Given the description of an element on the screen output the (x, y) to click on. 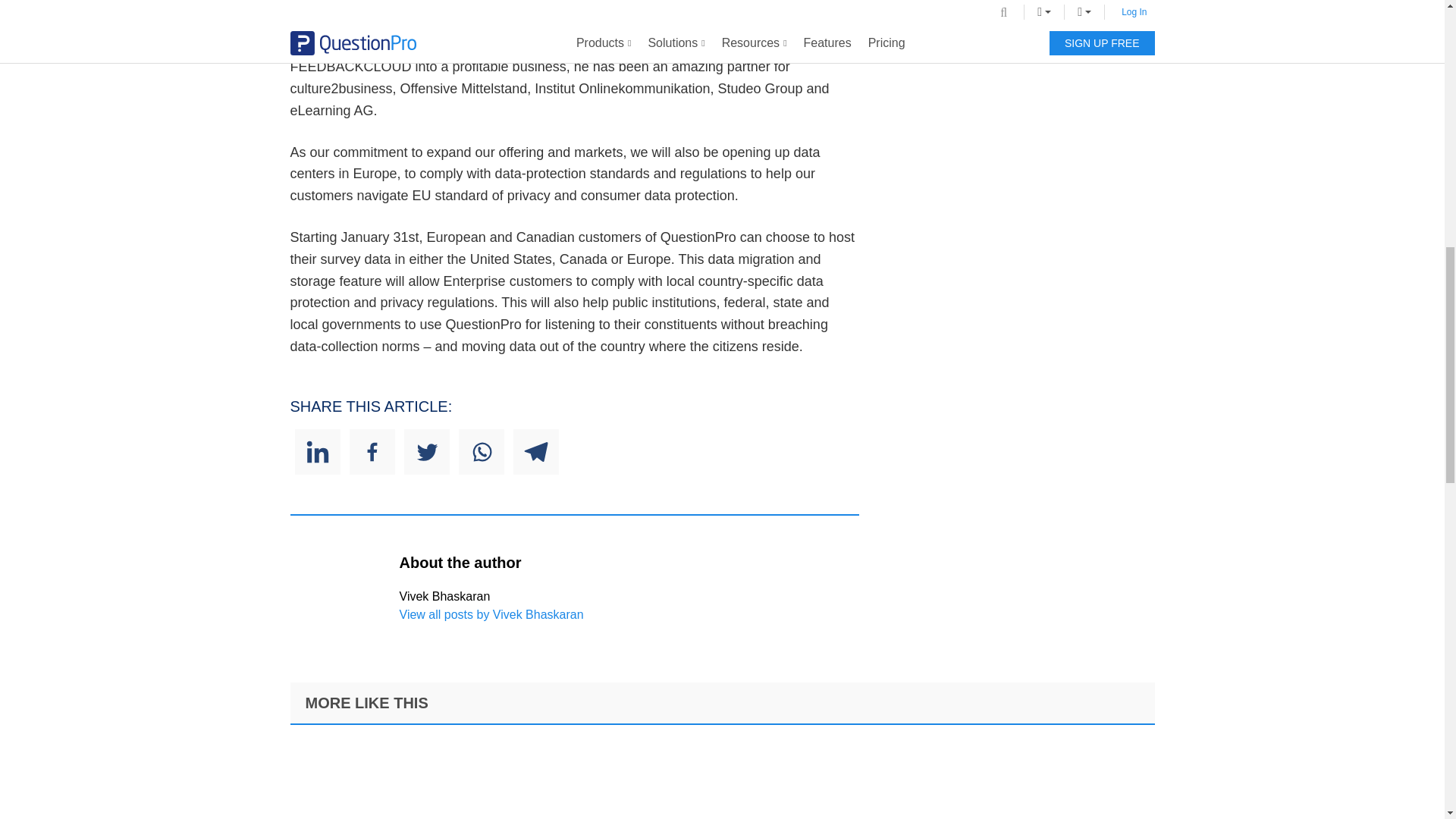
Whatsapp (480, 452)
Telegram (534, 452)
Facebook (371, 452)
Linkedin (316, 452)
Twitter (425, 452)
